Given the description of an element on the screen output the (x, y) to click on. 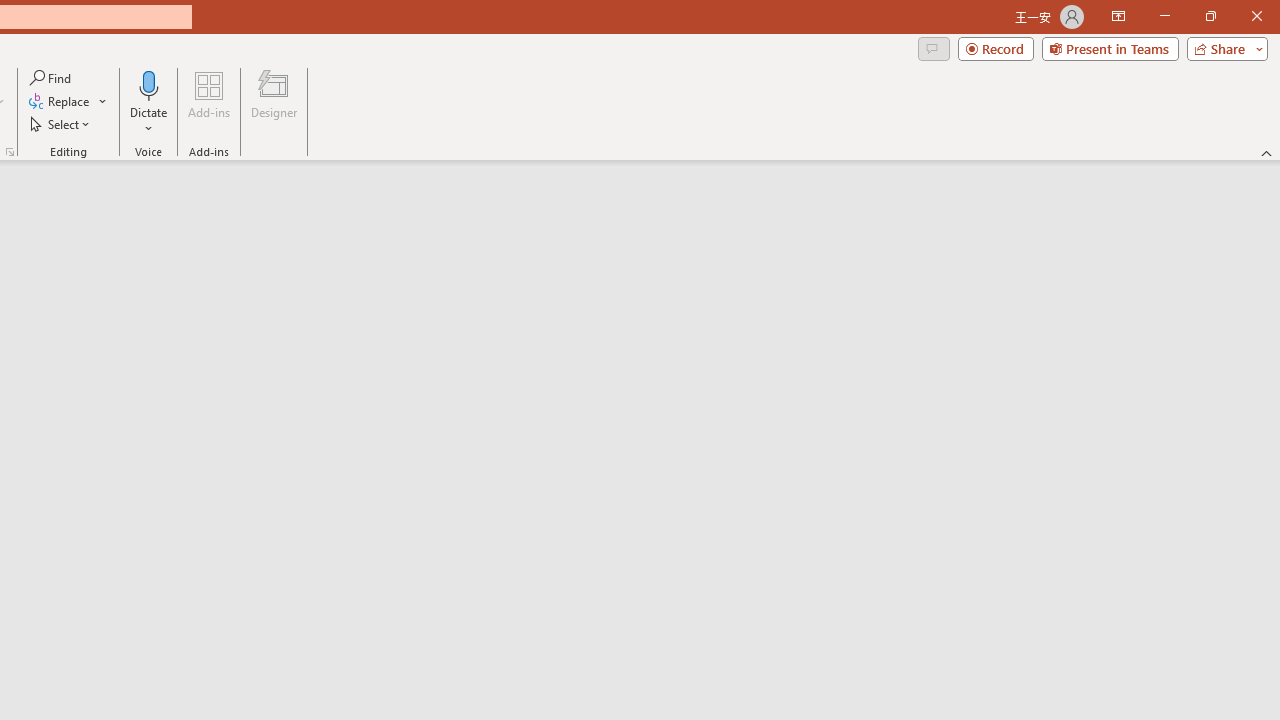
Select (61, 124)
Find... (51, 78)
Format Object... (9, 151)
